Given the description of an element on the screen output the (x, y) to click on. 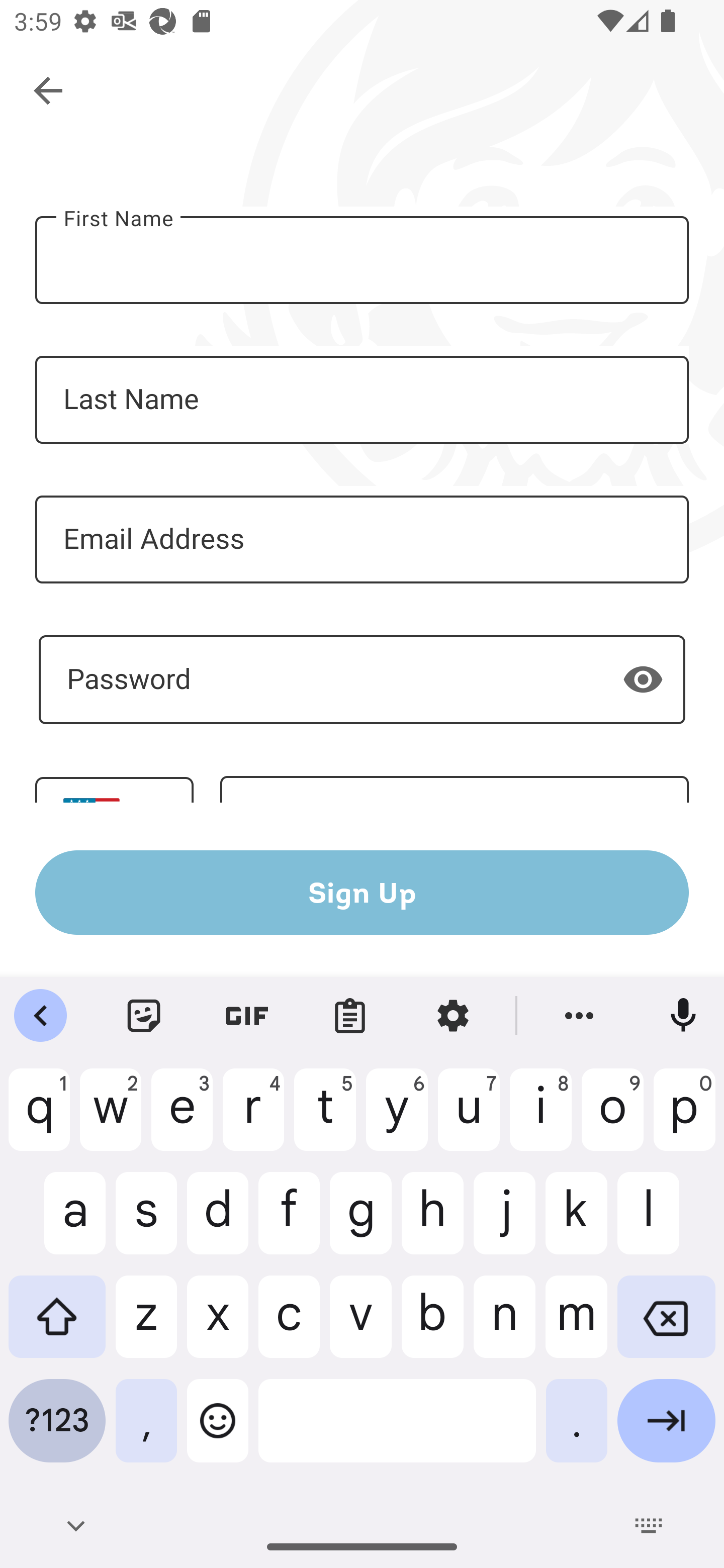
Navigate up (49, 91)
First Name - Required (361, 260)
Last Name - Required (361, 399)
Email Address - Required (361, 539)
- Required (361, 679)
Show password (642, 678)
Sign Up (361, 891)
